Given the description of an element on the screen output the (x, y) to click on. 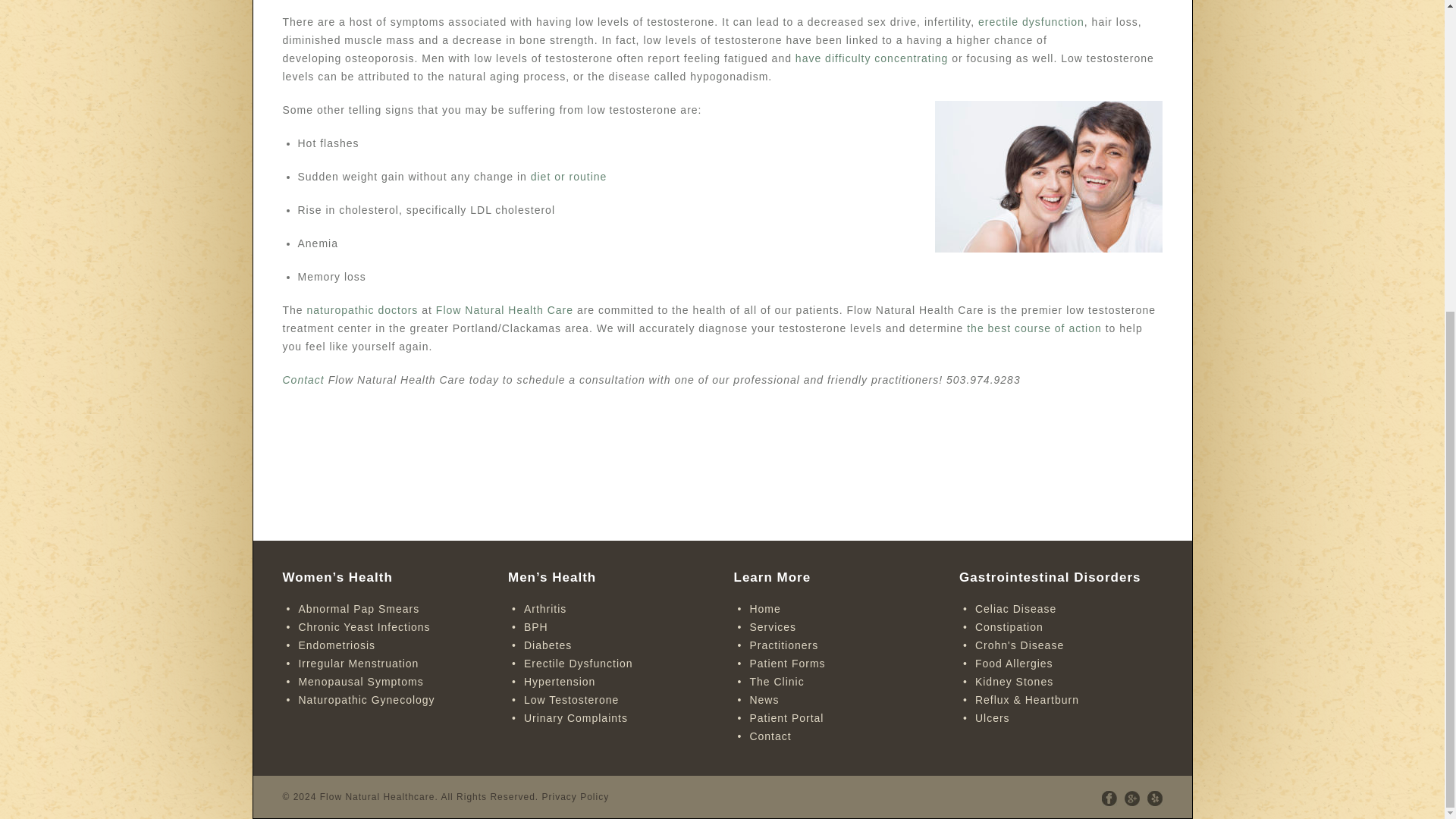
Contact (302, 379)
Menopausal Symptoms (360, 681)
Naturopathic Gynecology (365, 699)
Erectile Dysfunction (578, 663)
diet or routine (569, 176)
Endometriosis (336, 645)
Chronic Yeast Infections (363, 626)
have difficulty concentrating (871, 58)
BPH (536, 626)
Arthritis (545, 608)
